Given the description of an element on the screen output the (x, y) to click on. 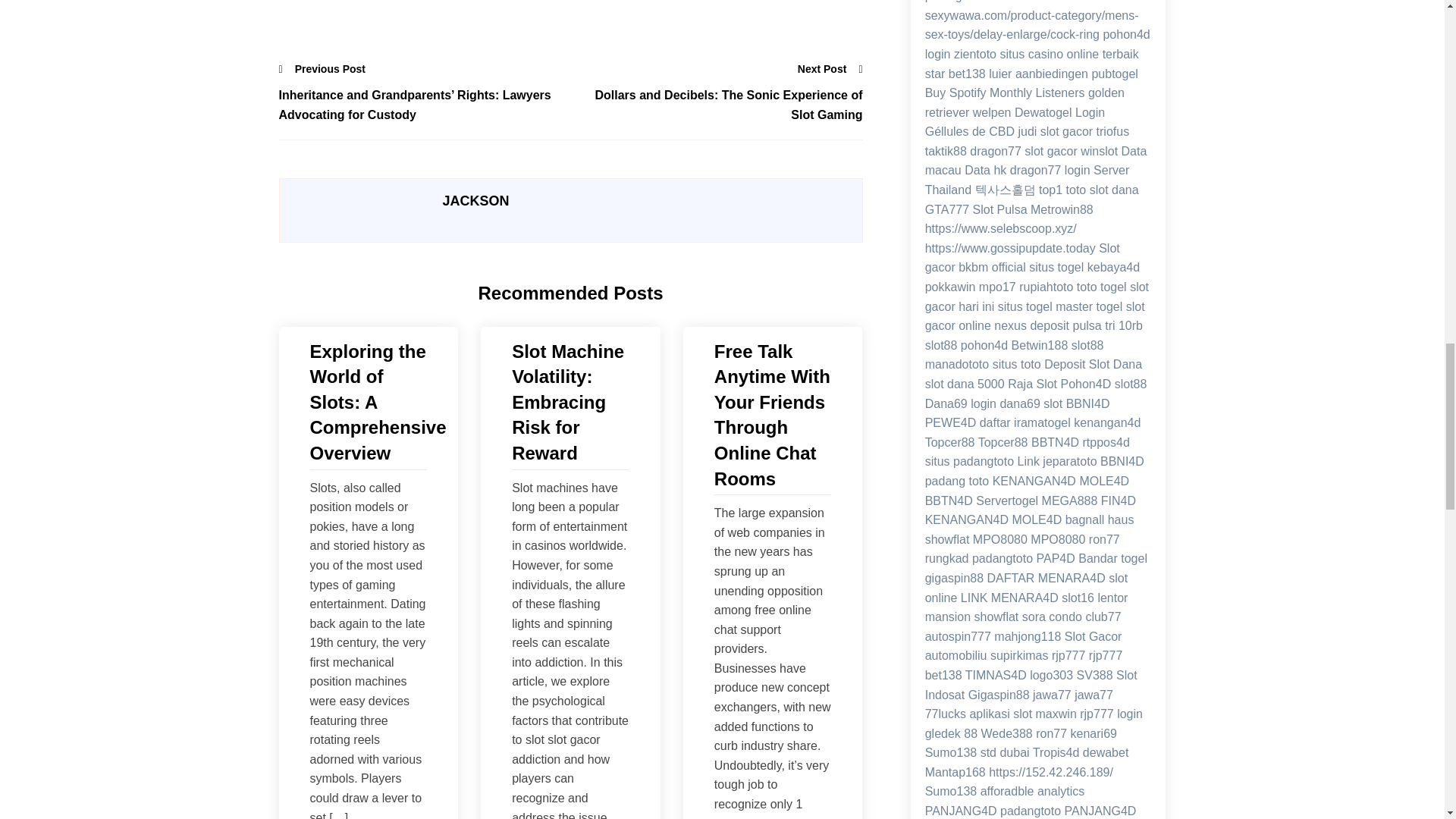
Exploring the World of Slots: A Comprehensive Overview (367, 402)
Dollars and Decibels: The Sonic Experience of Slot Gaming (715, 104)
Next Post (830, 68)
Slot Machine Volatility: Embracing Risk for Reward (570, 402)
Previous Post (322, 68)
